Given the description of an element on the screen output the (x, y) to click on. 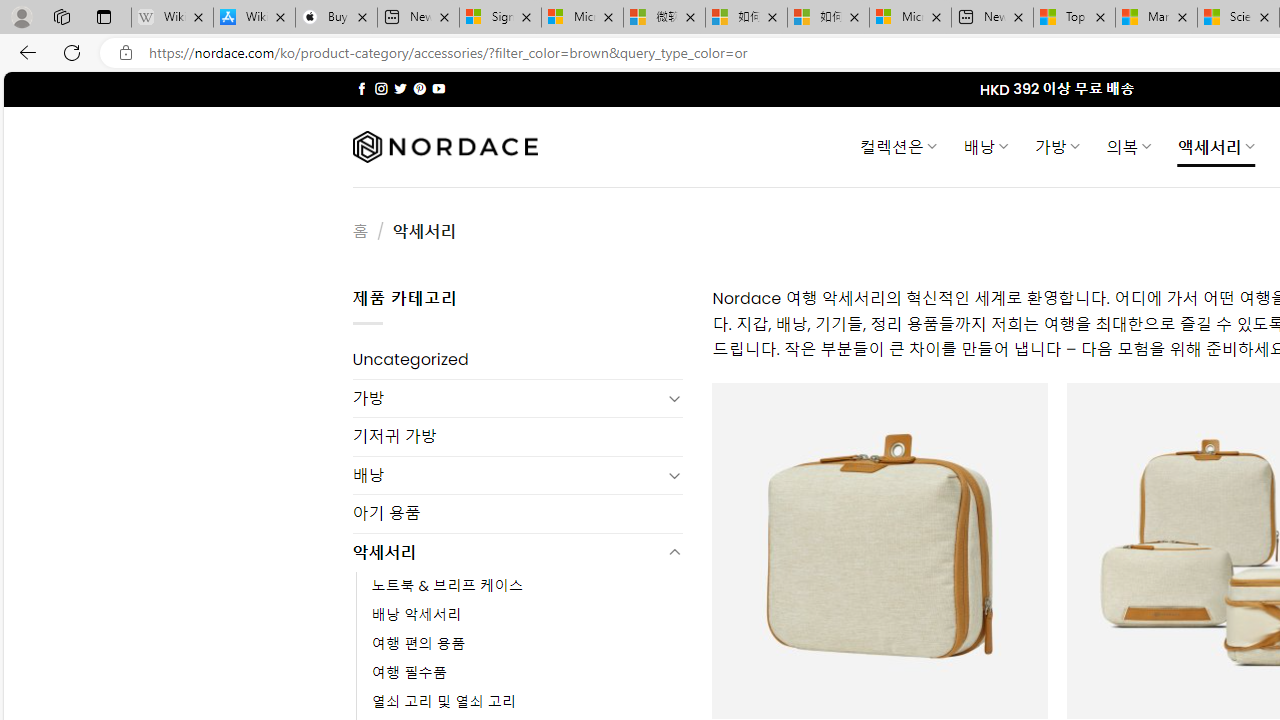
Uncategorized (517, 359)
